Given the description of an element on the screen output the (x, y) to click on. 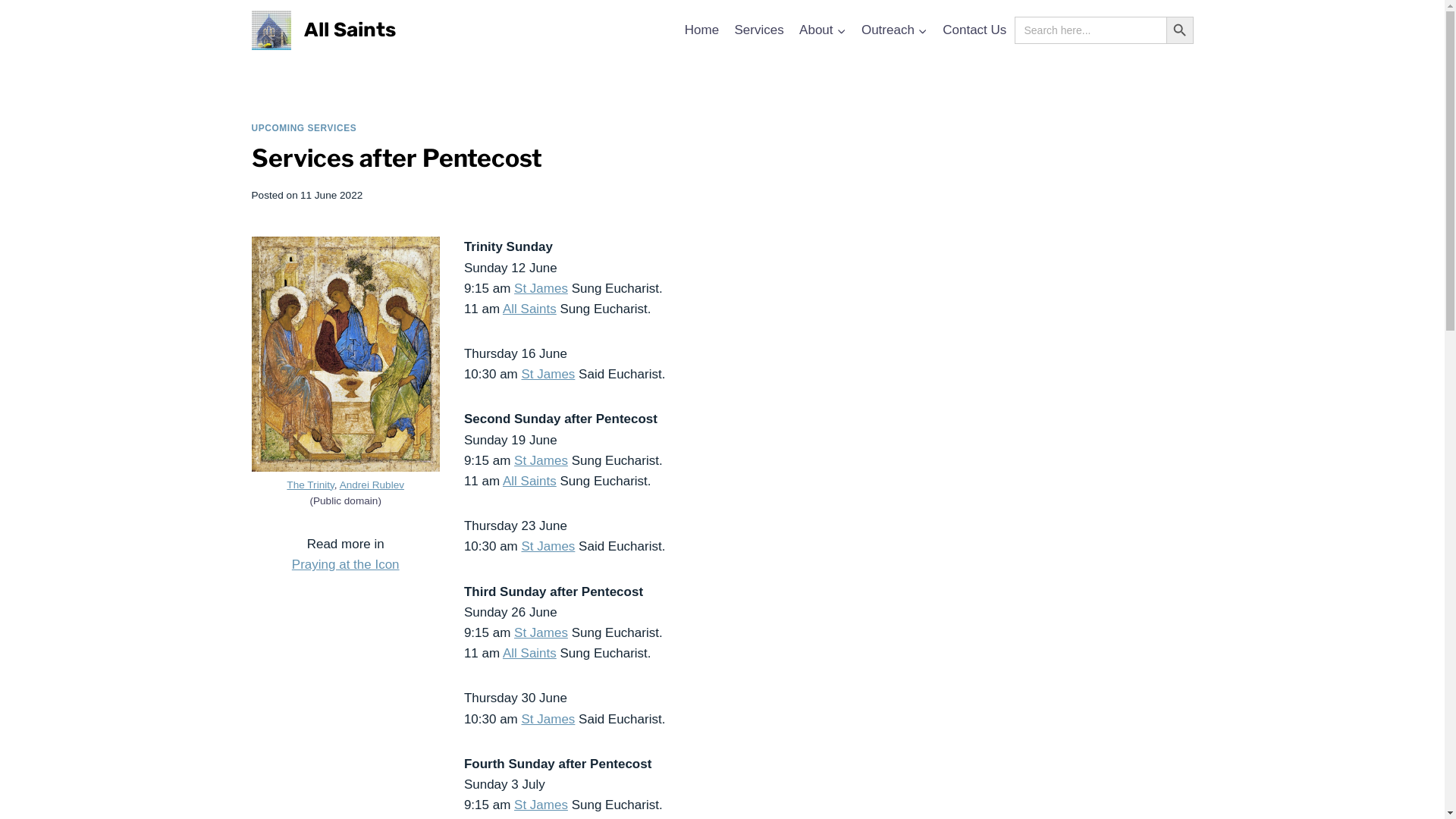
All Saints Element type: text (529, 653)
All Saints Element type: text (529, 308)
Praying at the Icon Element type: text (345, 564)
St James Element type: text (548, 546)
St James Element type: text (540, 804)
Outreach Element type: text (894, 30)
About Element type: text (822, 30)
All Saints Element type: text (323, 30)
St James Element type: text (548, 719)
Home Element type: text (702, 30)
St James Element type: text (540, 460)
St James Element type: text (540, 288)
Services Element type: text (758, 30)
St James Element type: text (548, 374)
UPCOMING SERVICES Element type: text (304, 127)
St James Element type: text (540, 632)
The Trinity Element type: text (309, 484)
Search Button Element type: text (1179, 29)
Contact Us Element type: text (974, 30)
Andrei Rublev Element type: text (371, 484)
All Saints Element type: text (529, 480)
